Given the description of an element on the screen output the (x, y) to click on. 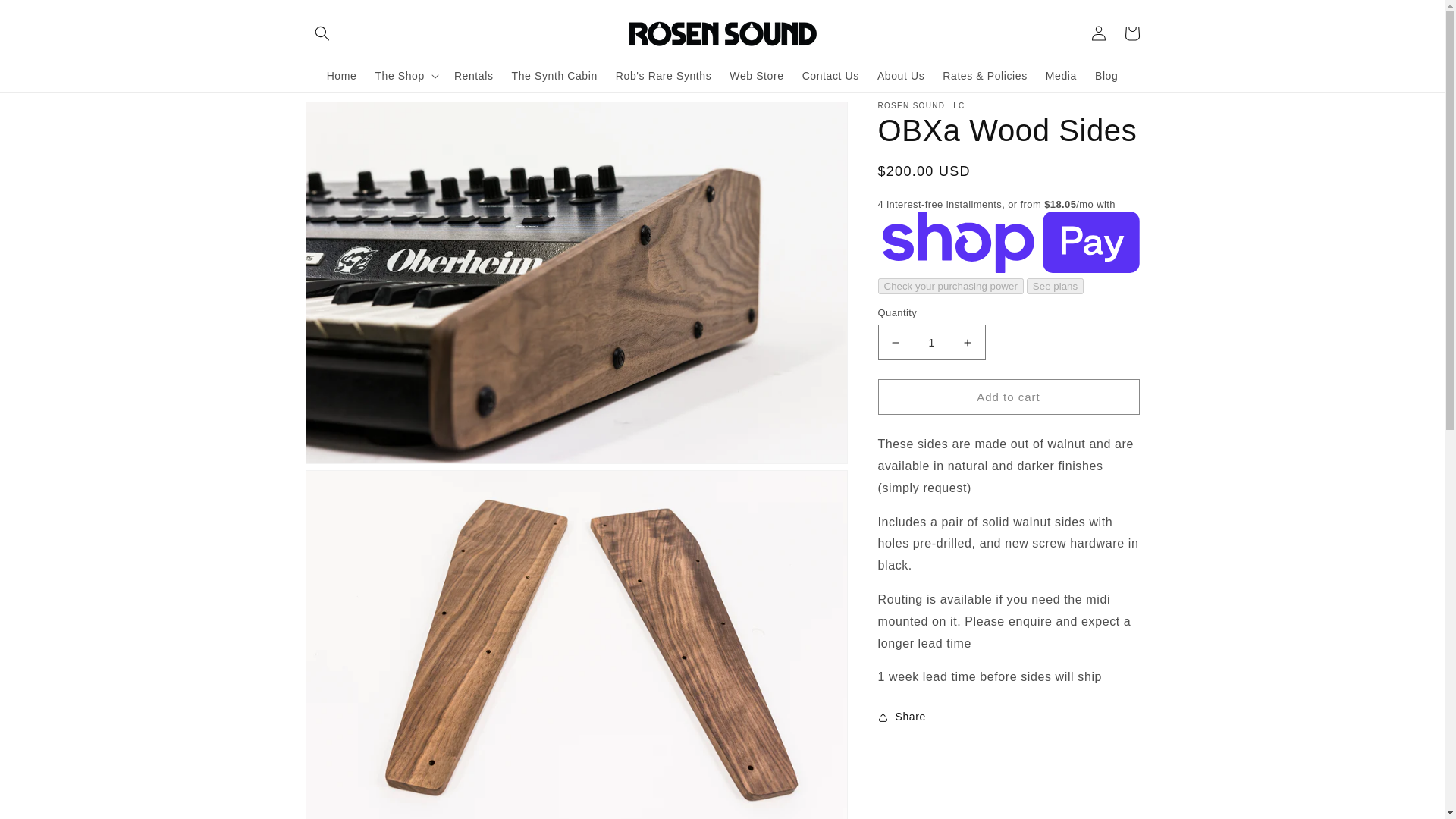
Blog (1106, 74)
Media (1061, 74)
Contact Us (830, 74)
About Us (900, 74)
Rentals (473, 74)
The Synth Cabin (554, 74)
1 (931, 342)
Web Store (756, 74)
Cart (1131, 32)
Log in (1098, 32)
Skip to content (45, 17)
Rob's Rare Synths (663, 74)
Home (341, 74)
